Given the description of an element on the screen output the (x, y) to click on. 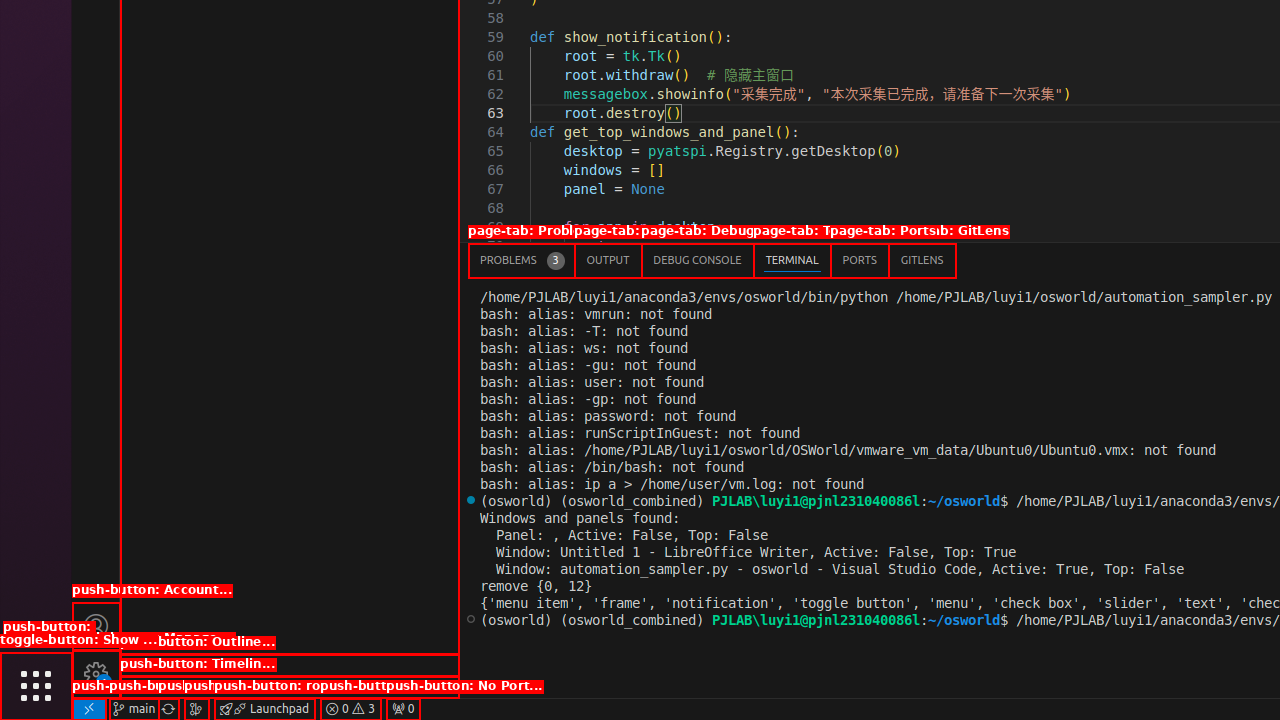
OSWorld (Git) - Synchronize Changes Element type: push-button (168, 709)
Manage - New Code update available. Element type: push-button (96, 674)
Ports Element type: page-tab (859, 260)
Accounts Element type: push-button (96, 626)
